Given the description of an element on the screen output the (x, y) to click on. 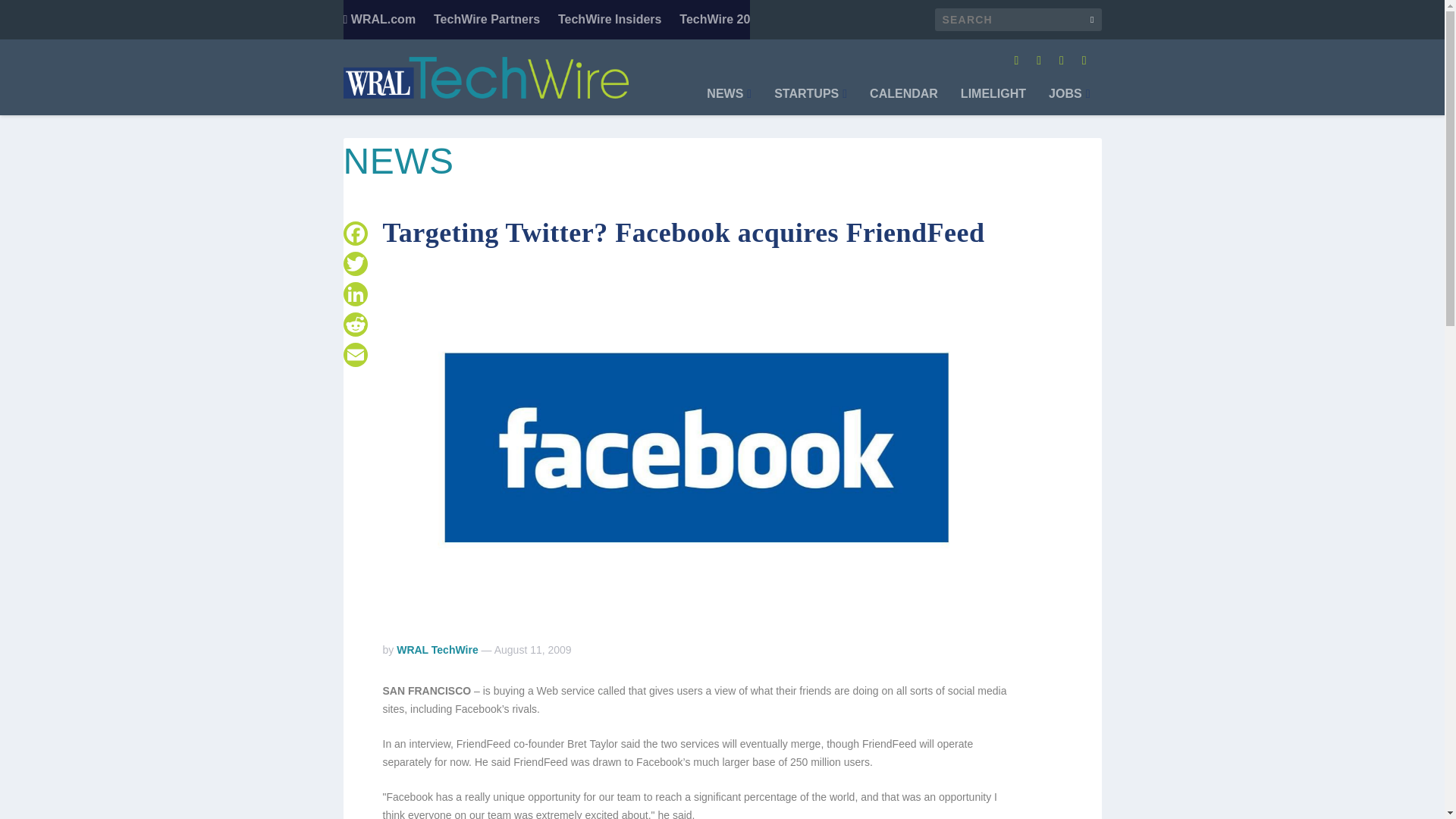
Search for: (1017, 19)
JOBS (1068, 101)
LIMELIGHT (993, 101)
TechWire 20 (714, 19)
Twitter (354, 263)
Email (354, 354)
STARTUPS (810, 101)
WRAL.com (378, 19)
Facebook (354, 233)
Reddit (354, 324)
